Given the description of an element on the screen output the (x, y) to click on. 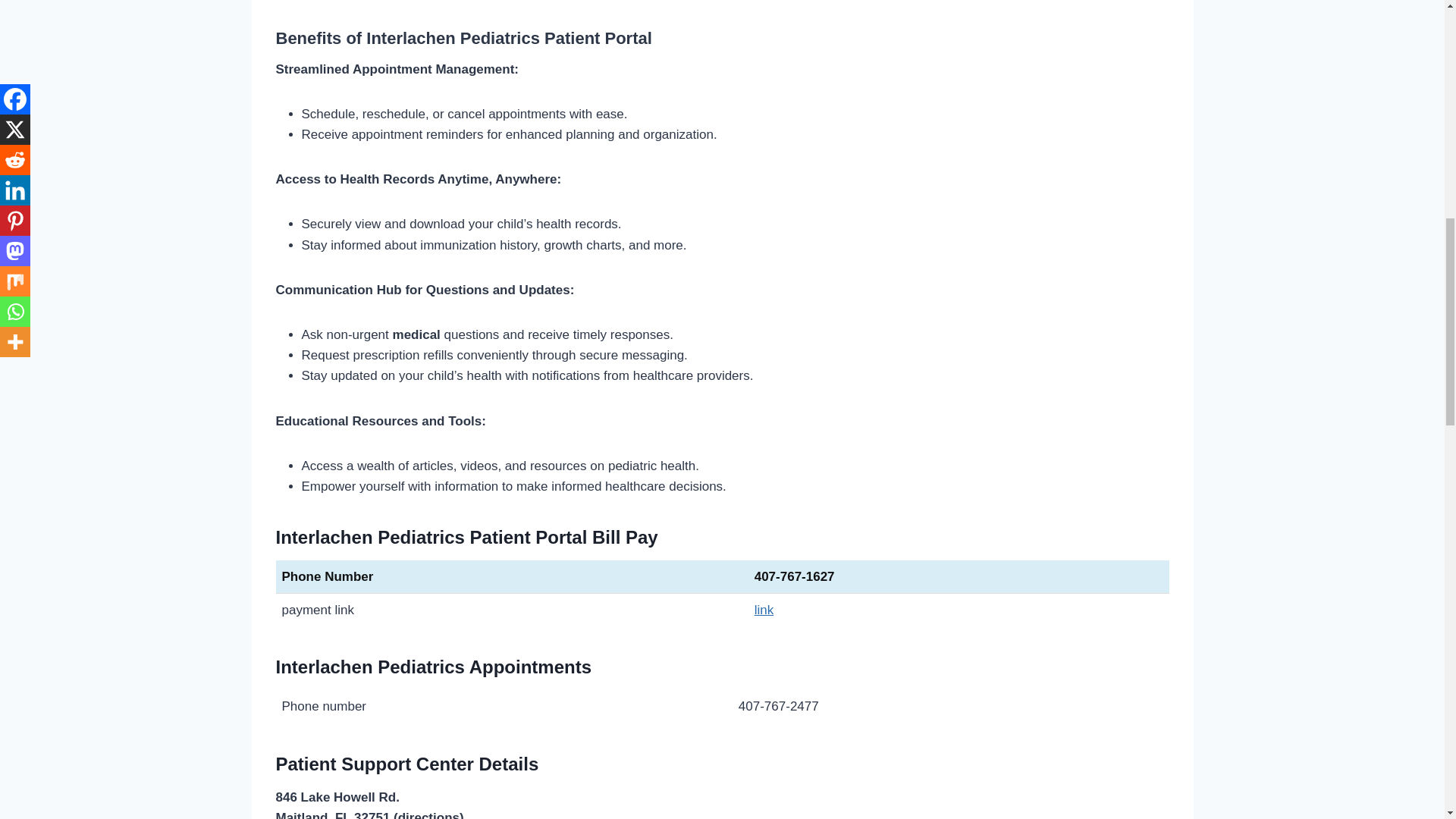
link (764, 609)
